Given the description of an element on the screen output the (x, y) to click on. 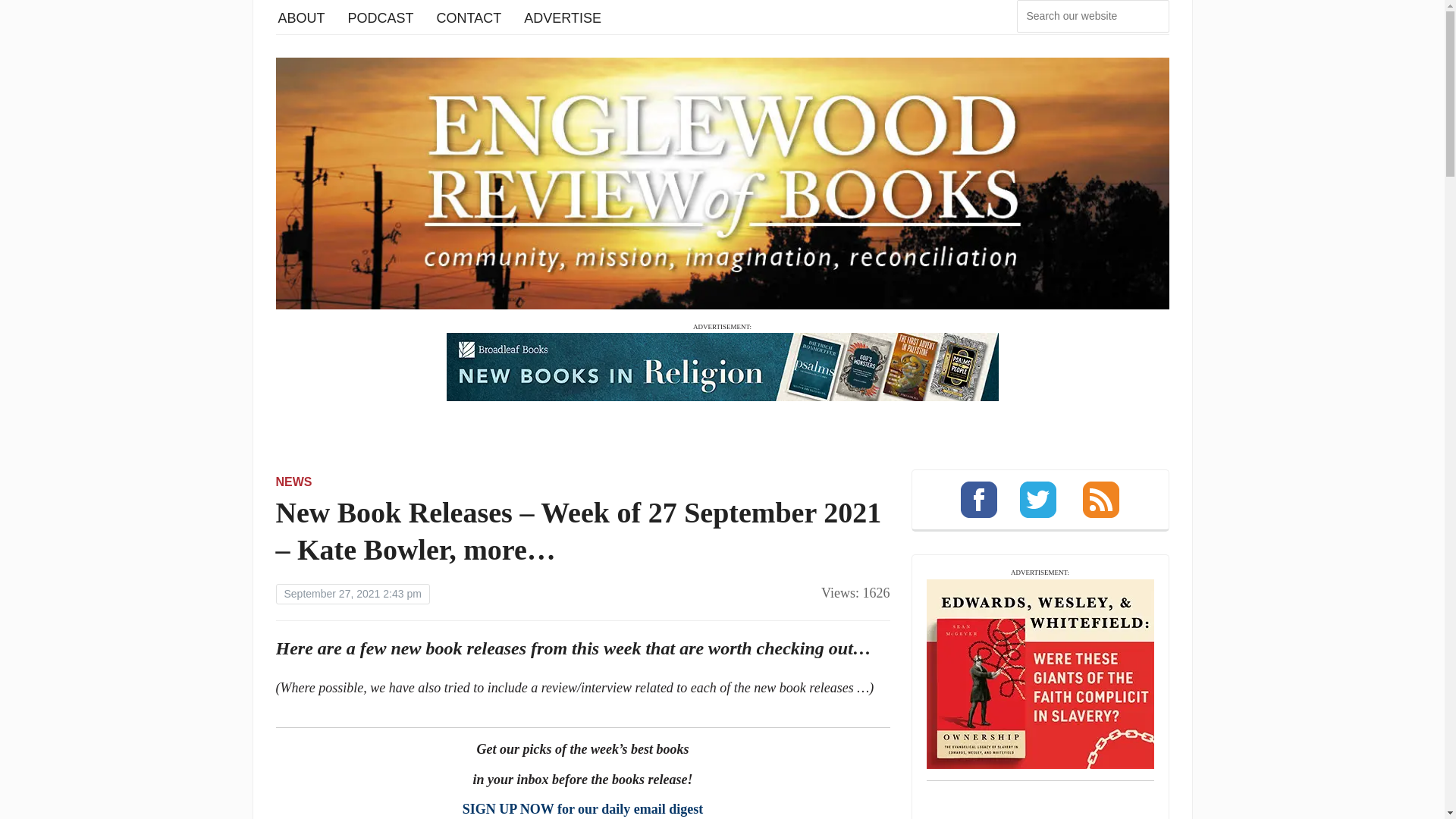
ADVERTISE (562, 17)
NEWS (294, 481)
SIGN UP NOW for our daily email digest (583, 808)
CONTACT (469, 17)
ABOUT (301, 17)
PODCAST (380, 17)
